Given the description of an element on the screen output the (x, y) to click on. 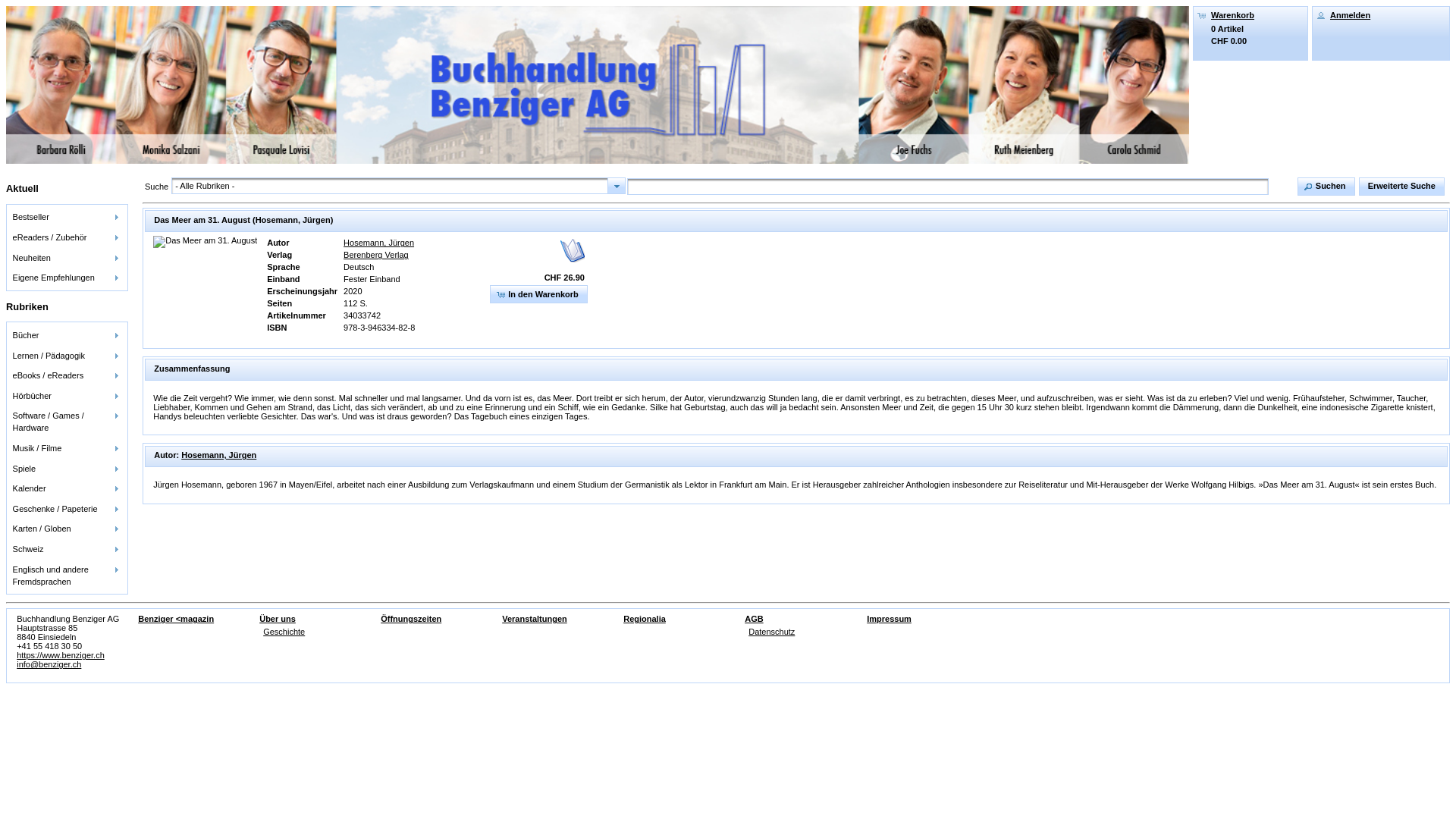
Musik / Filme Element type: text (67, 448)
Spiele Element type: text (67, 467)
Kalender Element type: text (67, 488)
Benziger <magazin Element type: text (175, 618)
Neuheiten Element type: text (67, 256)
Impressum Element type: text (888, 618)
Buch Element type: hover (205, 241)
Eigene Empfehlungen Element type: text (67, 277)
eBooks / eReaders Element type: text (67, 375)
Bestseller Element type: text (67, 216)
Software / Games / Hardware Element type: text (67, 421)
Regionalia Element type: text (644, 618)
info@benziger.ch Element type: text (48, 663)
https://www.benziger.ch Element type: text (60, 654)
Suchen Element type: text (1326, 186)
Geschenke / Papeterie Element type: text (67, 507)
Veranstaltungen Element type: text (534, 618)
Buch Element type: hover (572, 250)
Geschichte Element type: text (283, 631)
Berenberg Verlag Element type: text (375, 254)
Karten / Globen Element type: text (67, 528)
AGB Element type: text (753, 618)
Erweiterte Suche Element type: text (1401, 186)
Schweiz Element type: text (67, 548)
Anmelden Element type: text (1350, 14)
Warenkorb
0 Artikel
CHF 0.00 Element type: text (1250, 26)
Datenschutz Element type: text (771, 631)
Englisch und andere Fremdsprachen Element type: text (67, 574)
In den Warenkorb Element type: text (538, 294)
